Given the description of an element on the screen output the (x, y) to click on. 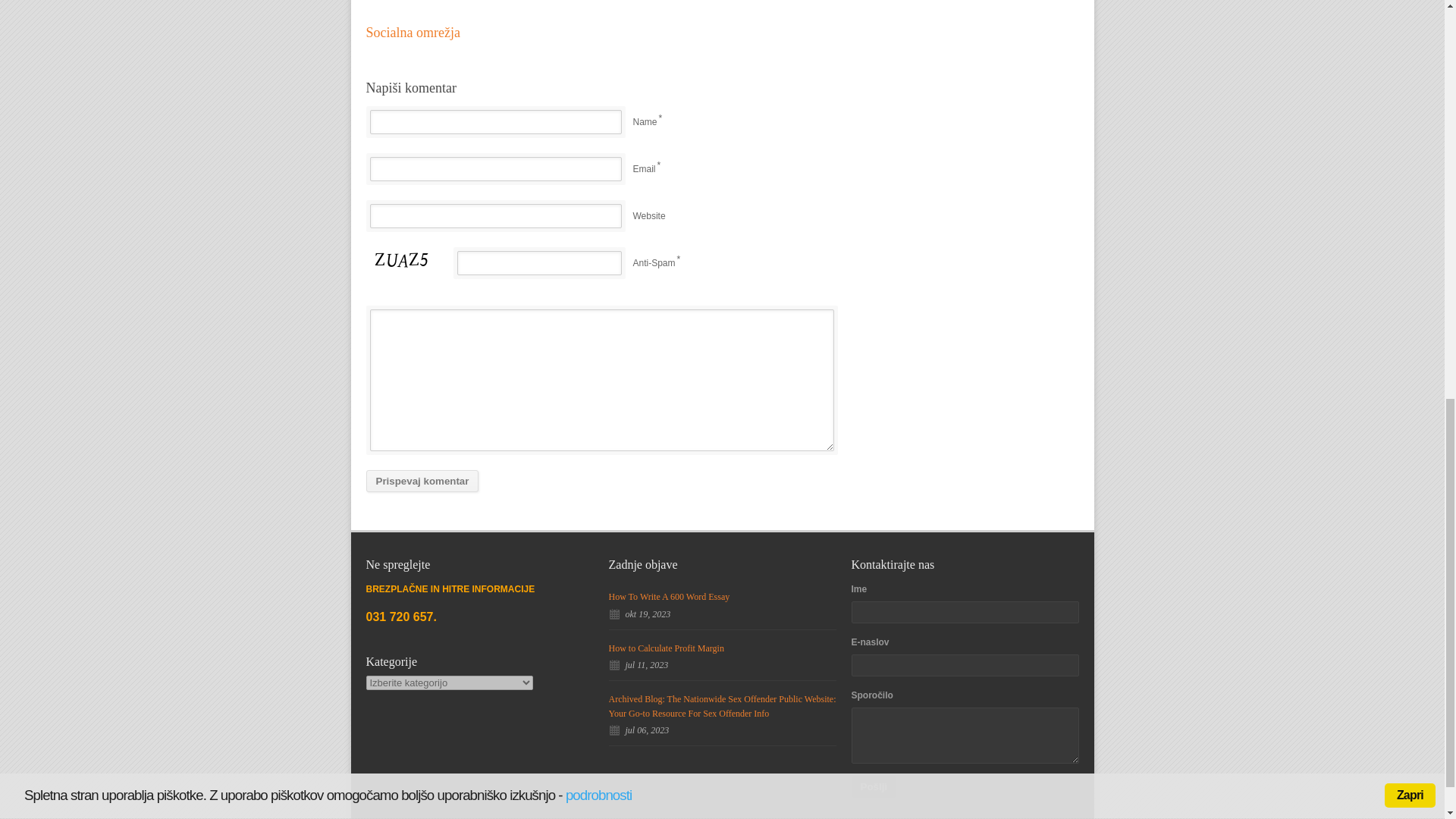
Prispevaj komentar (422, 481)
